Given the description of an element on the screen output the (x, y) to click on. 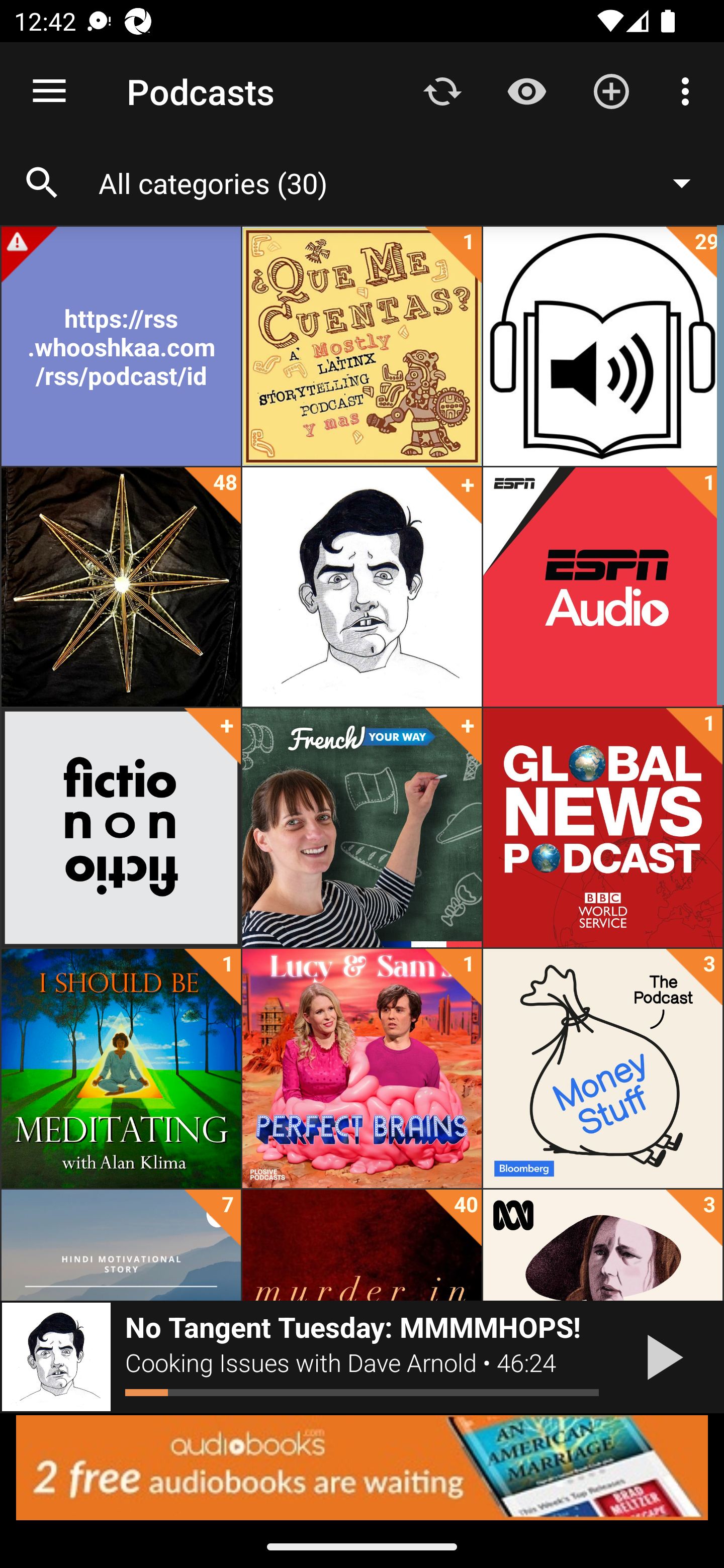
Open navigation sidebar (49, 91)
Update (442, 90)
Show / Hide played content (526, 90)
Add new Podcast (611, 90)
More options (688, 90)
Search (42, 183)
All categories (30) (404, 182)
https://rss.whooshkaa.com/rss/podcast/id/5884 (121, 346)
¿Qué Me Cuentas?: Latinx Storytelling 1 (361, 346)
Audiobooks 29 (602, 346)
Audiobooks 48 (121, 587)
Cooking Issues with Dave Arnold + (361, 587)
ESPN Audio 1 (602, 587)
fiction/non/fiction + (121, 827)
Global News Podcast 1 (602, 827)
Lucy & Sam's Perfect Brains 1 (361, 1068)
Money Stuff: The Podcast 3 (602, 1068)
Play / Pause (660, 1356)
